Given the description of an element on the screen output the (x, y) to click on. 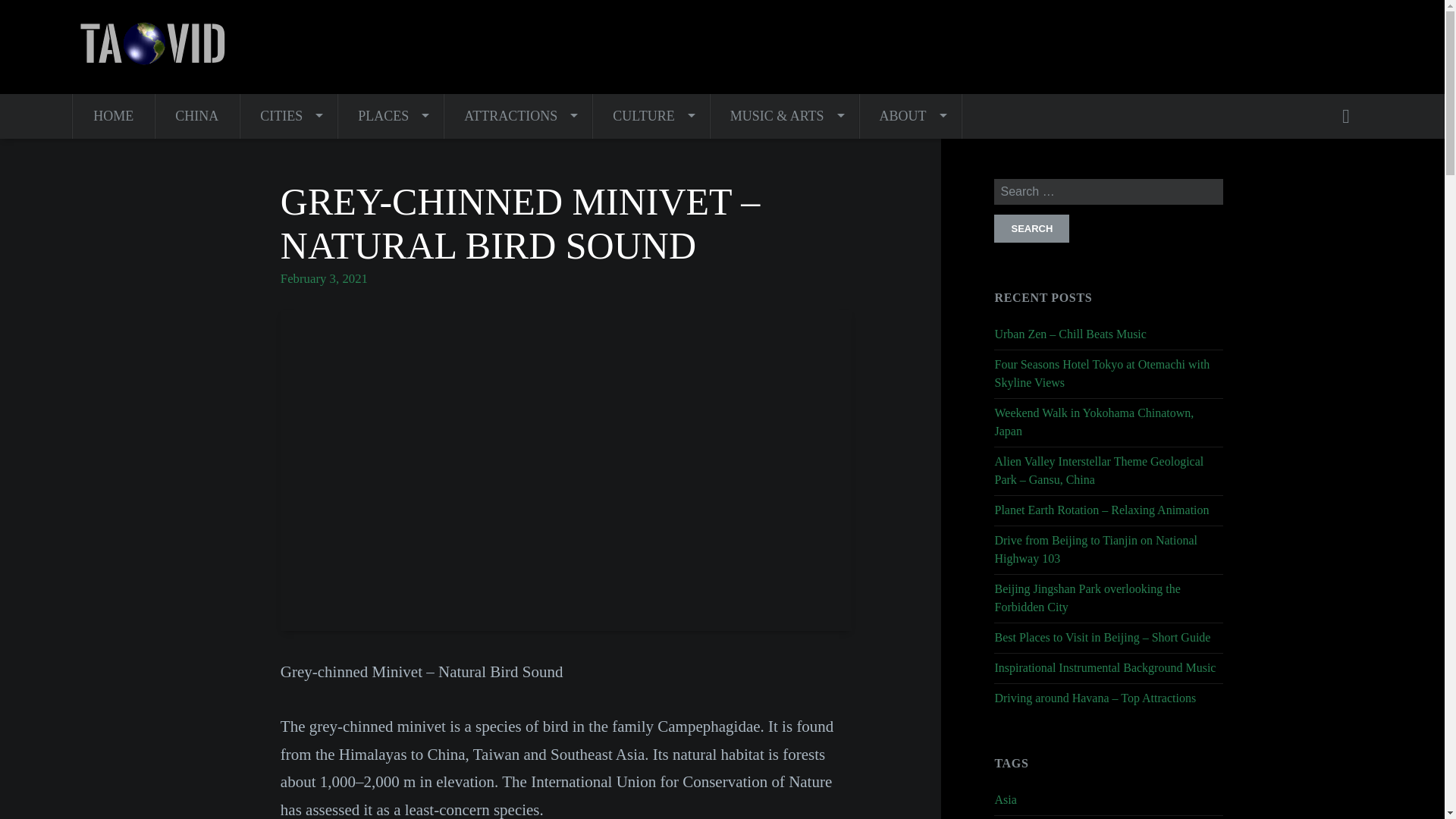
HOME (113, 116)
ABOUT (909, 116)
Search (1352, 116)
February 3, 2021 (324, 278)
CHINA (196, 116)
CITIES (288, 116)
CULTURE (649, 116)
ATTRACTIONS (517, 116)
taovid - (154, 45)
Search (1031, 227)
PLACES (389, 116)
Search (1031, 227)
